Given the description of an element on the screen output the (x, y) to click on. 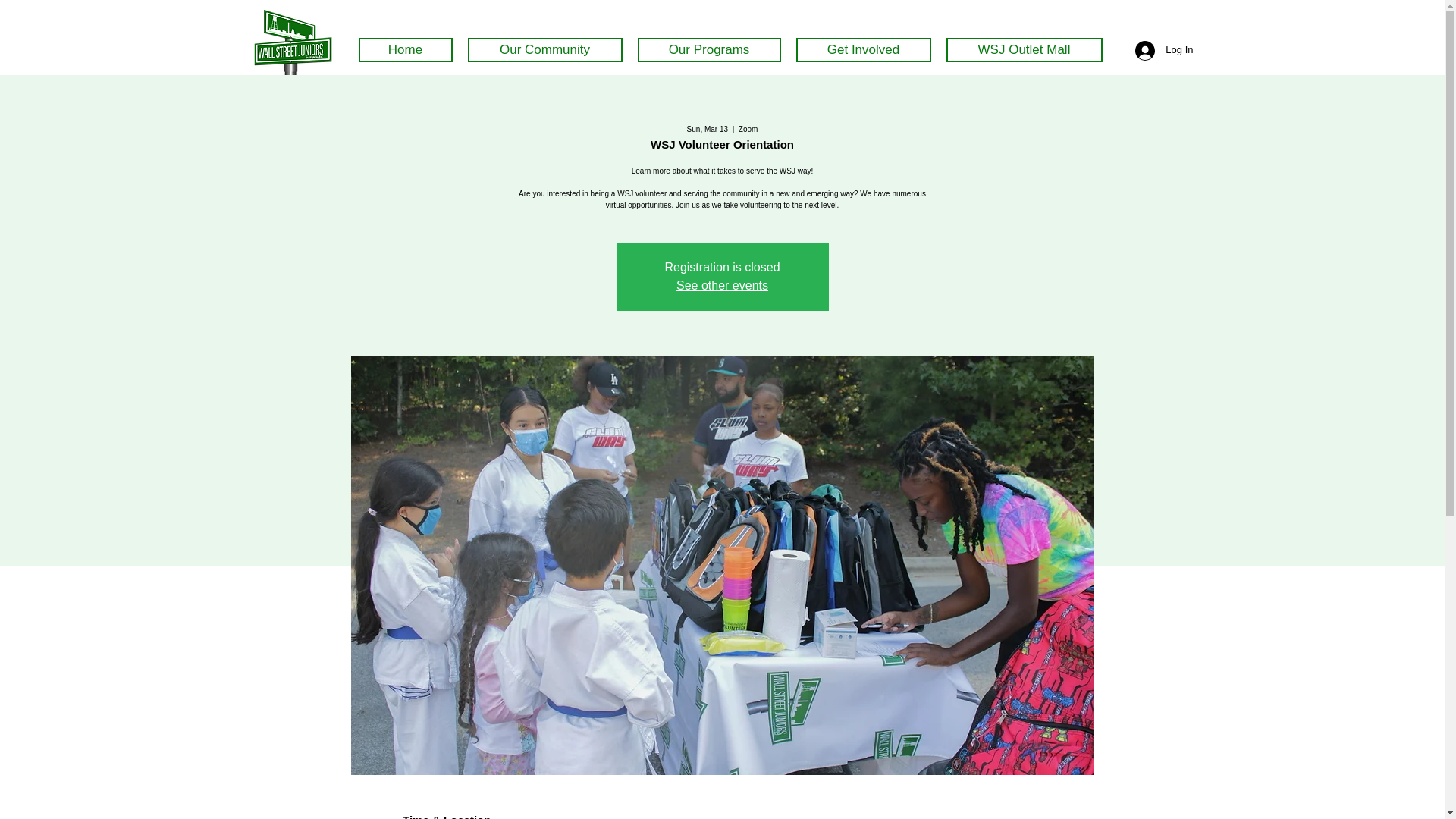
WSJ Outlet Mall (1024, 49)
Home (404, 49)
See other events (722, 285)
Our Programs (708, 49)
Log In (1164, 50)
Our Community (544, 49)
Get Involved (863, 49)
